Given the description of an element on the screen output the (x, y) to click on. 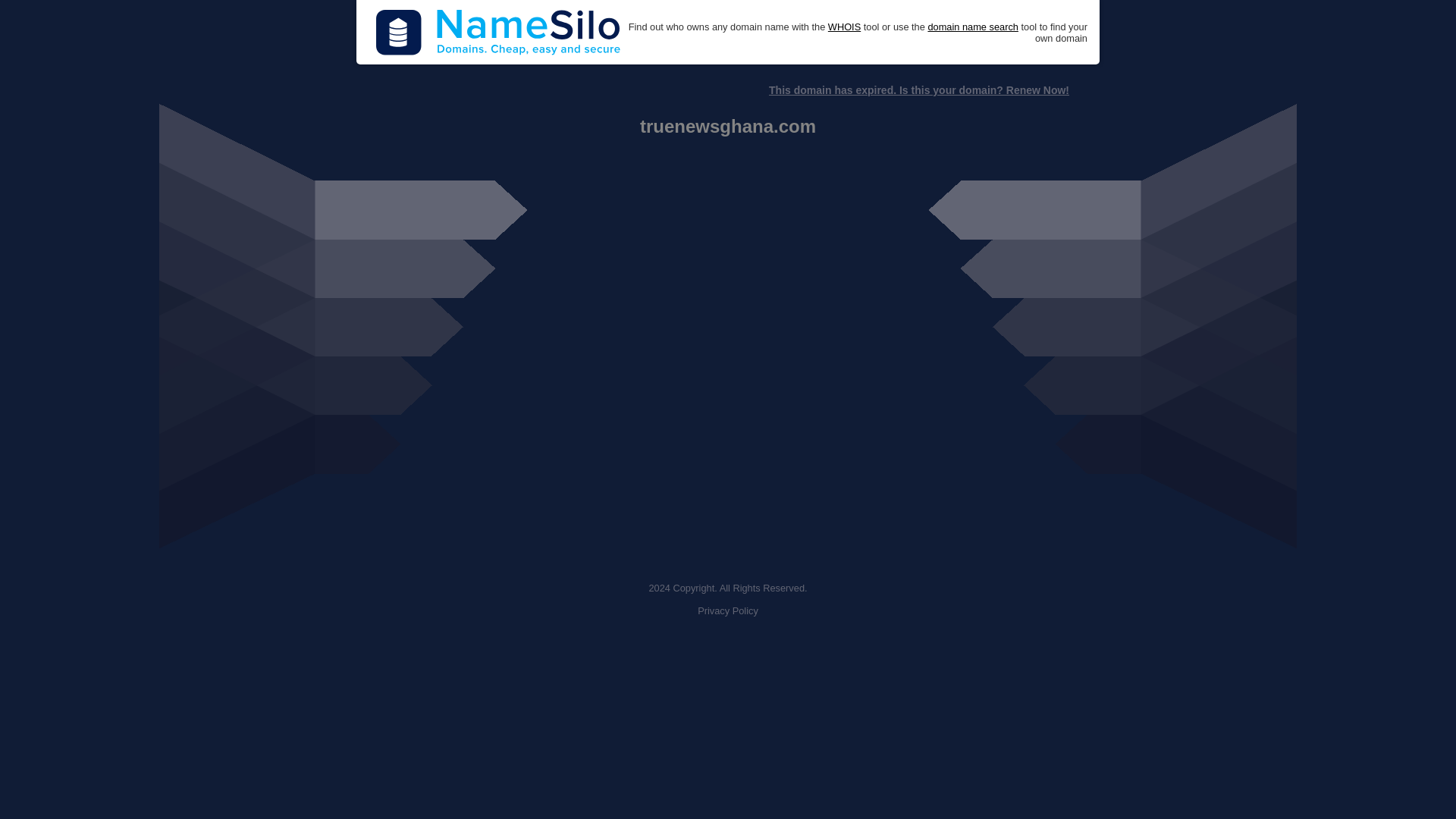
domain name search (972, 26)
WHOIS (844, 26)
This domain has expired. Is this your domain? Renew Now! (918, 90)
Privacy Policy (727, 610)
